Given the description of an element on the screen output the (x, y) to click on. 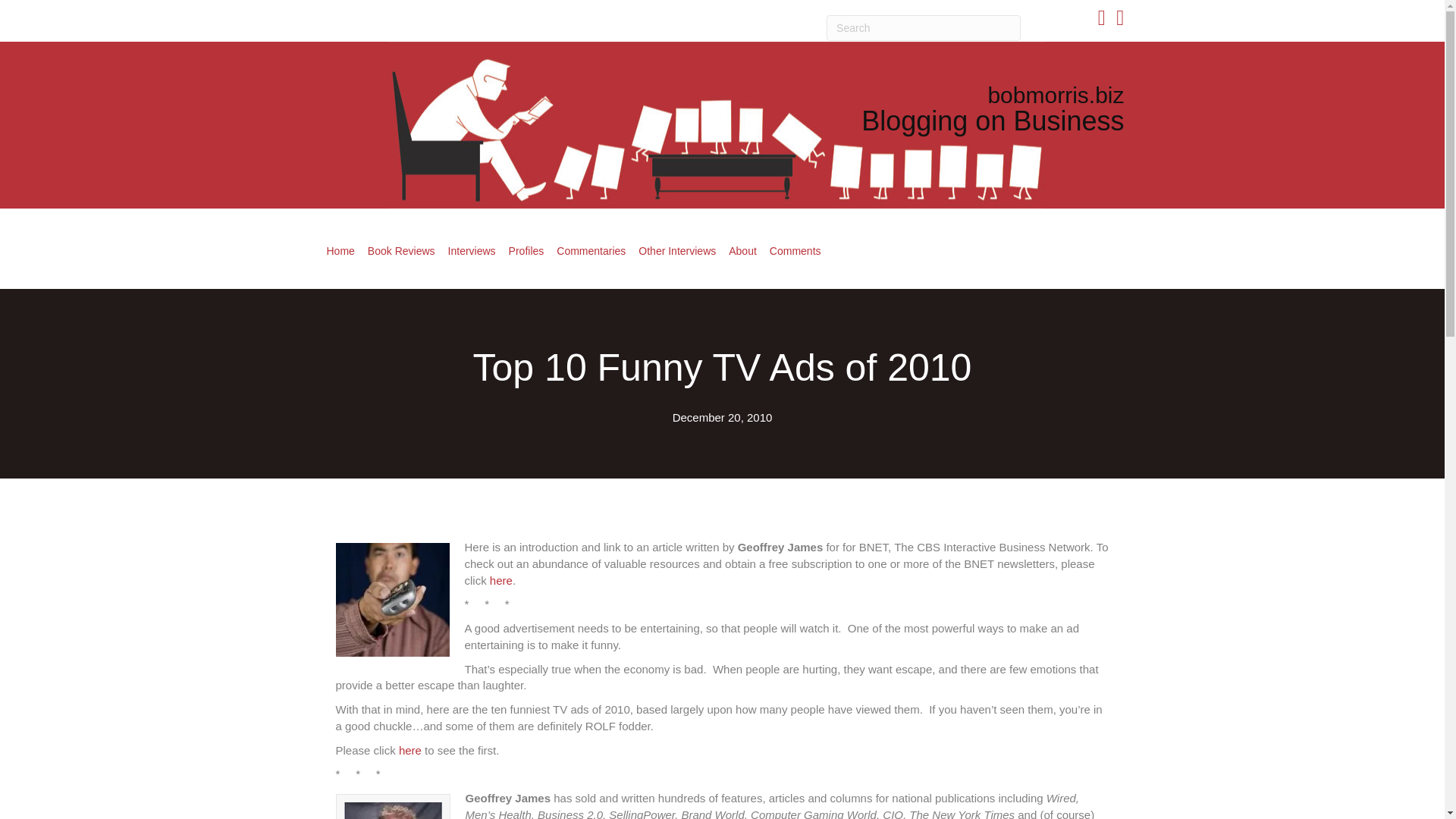
Type and press Enter to search. (923, 27)
bobmorris.biz (1055, 94)
Blogging on Business (992, 120)
here (410, 749)
Book Reviews (401, 250)
Other Interviews (676, 250)
Home (339, 250)
Comments (794, 250)
bobmorris.biz (1055, 94)
James, G (392, 810)
